Given the description of an element on the screen output the (x, y) to click on. 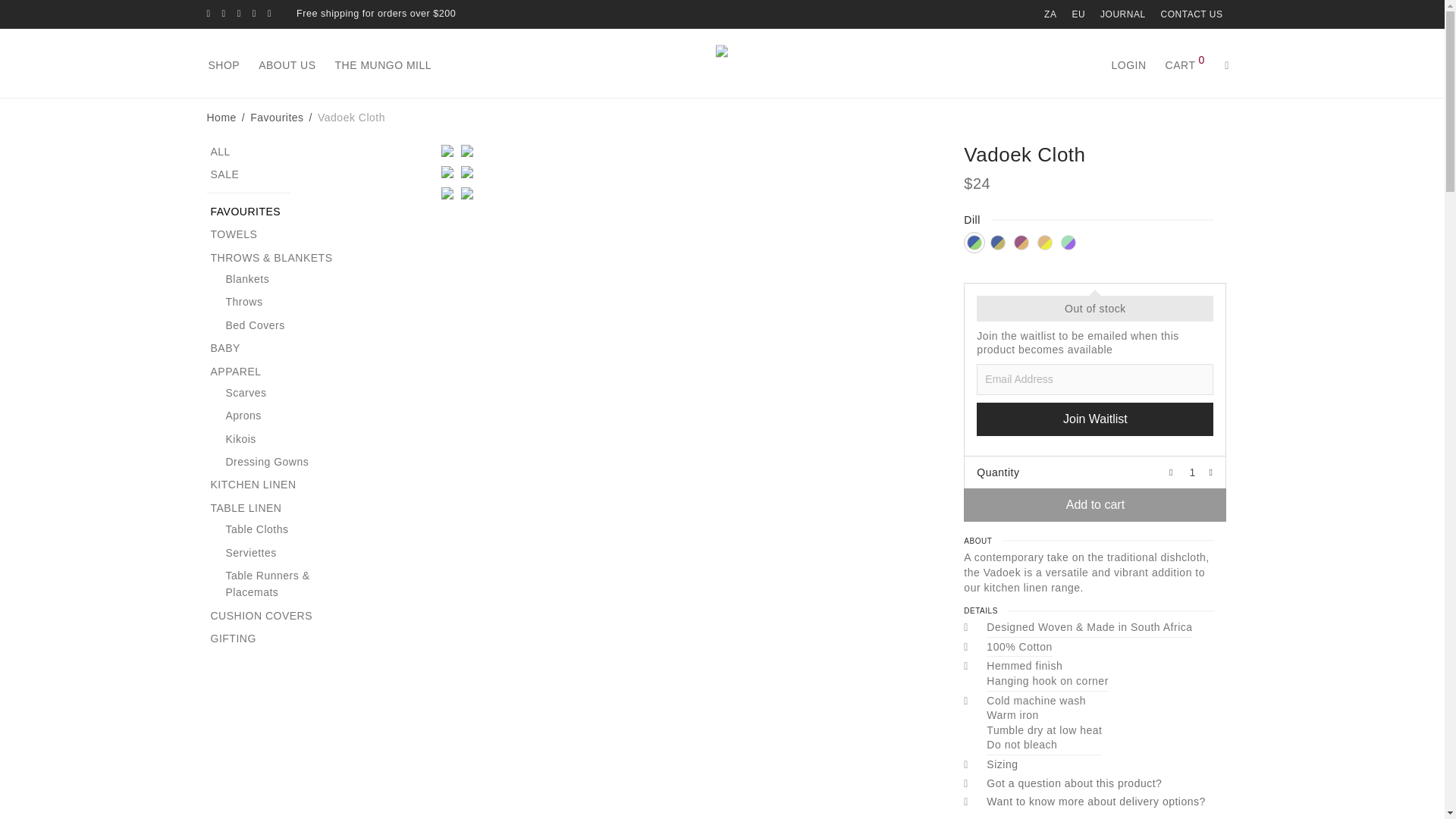
Pinterest (253, 13)
Shop our range of textiles (233, 64)
EU (1078, 13)
Get in touch with Mungo (1188, 13)
ABOUT US (296, 64)
Shop our South African website (1050, 13)
Shop our European website (1078, 13)
LinkedIn (239, 13)
CONTACT US (1188, 13)
1 (1192, 472)
ZA (1050, 13)
SHOP (233, 64)
